Given the description of an element on the screen output the (x, y) to click on. 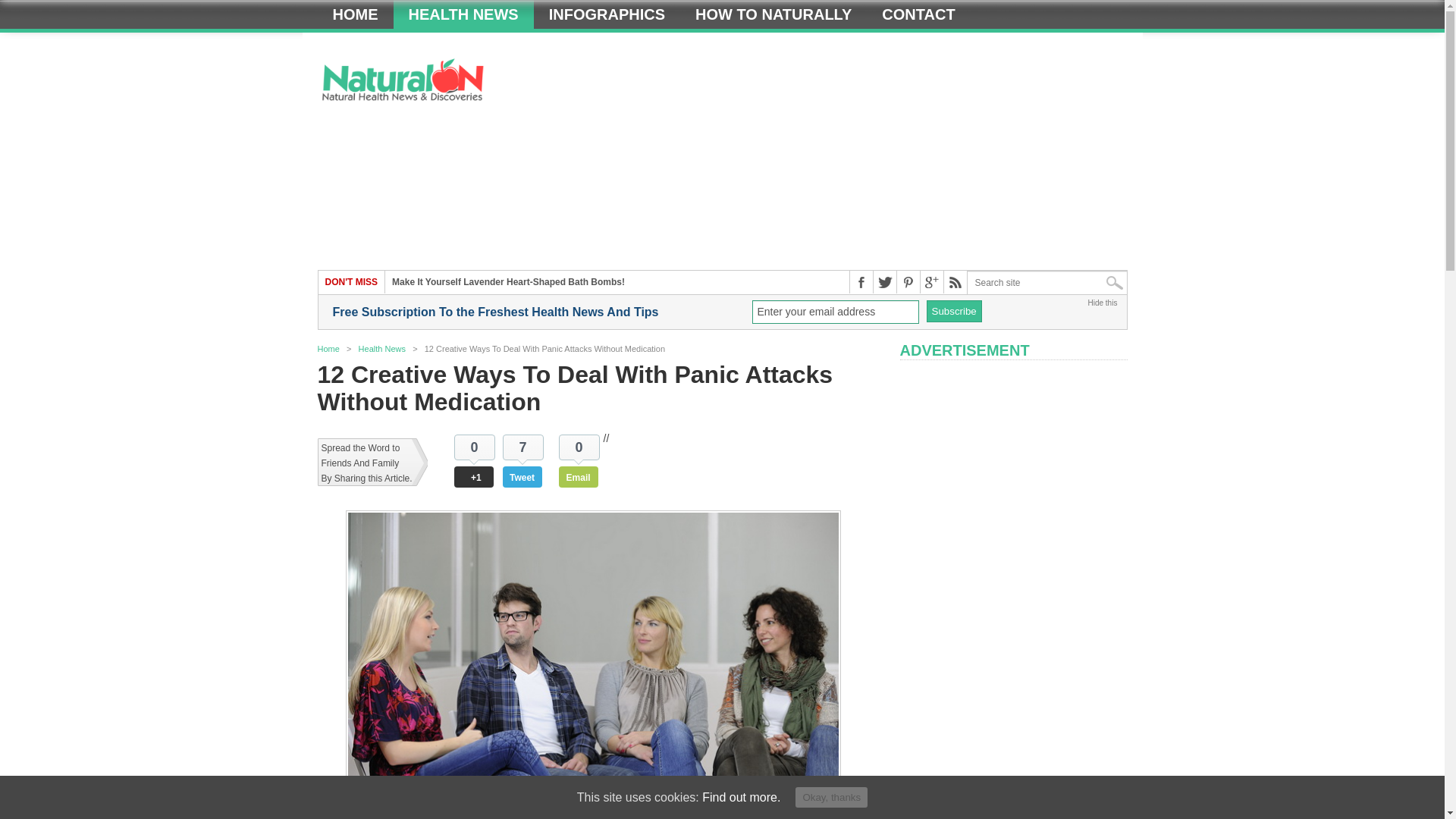
Enter your email address (835, 311)
Health News (382, 347)
0 (579, 447)
7 (522, 447)
Home (355, 14)
Contact (917, 14)
Email (578, 476)
CONTACT (917, 14)
Infographics (606, 14)
Tweet (521, 476)
